Given the description of an element on the screen output the (x, y) to click on. 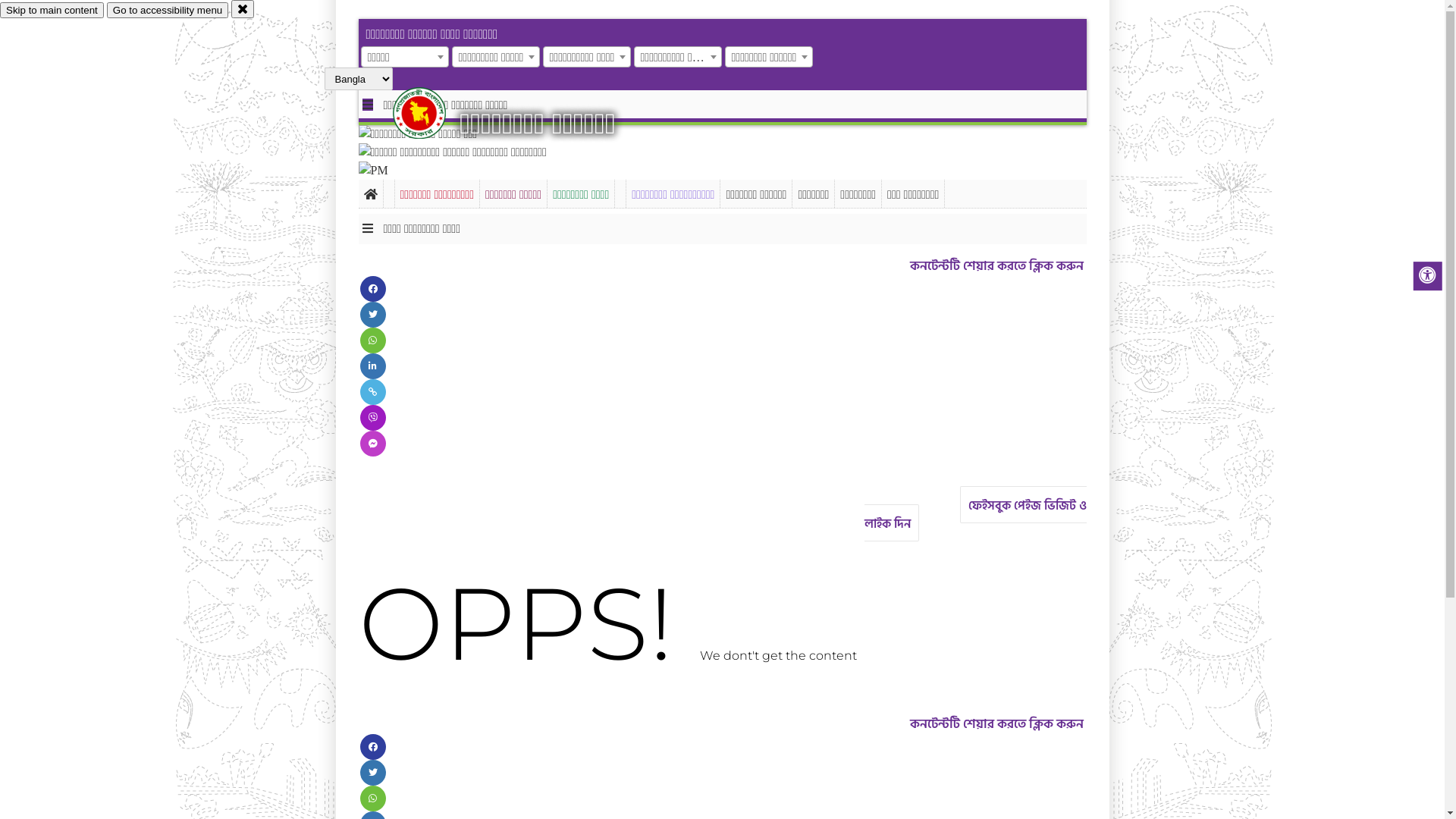
close Element type: hover (242, 9)
Skip to main content Element type: text (51, 10)

                
             Element type: hover (431, 112)
Go to accessibility menu Element type: text (167, 10)
